Given the description of an element on the screen output the (x, y) to click on. 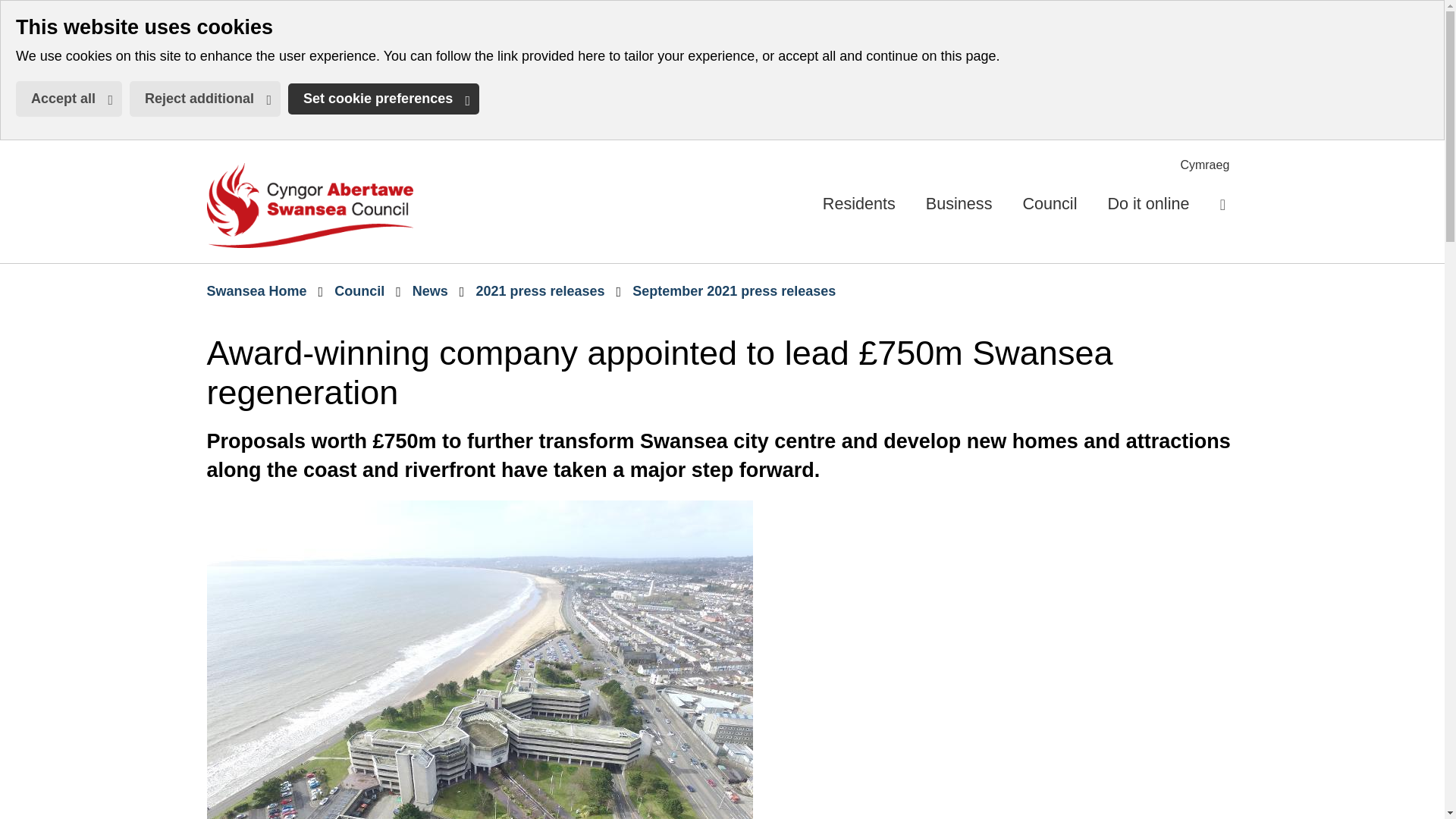
Reject additional (205, 99)
2021 press releases (540, 290)
Business (959, 203)
Find (309, 205)
News (1222, 203)
Council (430, 290)
Do it online (359, 290)
Swansea Home (1148, 203)
Set cookie preferences (255, 290)
Skip to main content (383, 98)
Council (11, 11)
Cymraeg (1049, 203)
Accept all (1204, 165)
September 2021 press releases (69, 99)
